Given the description of an element on the screen output the (x, y) to click on. 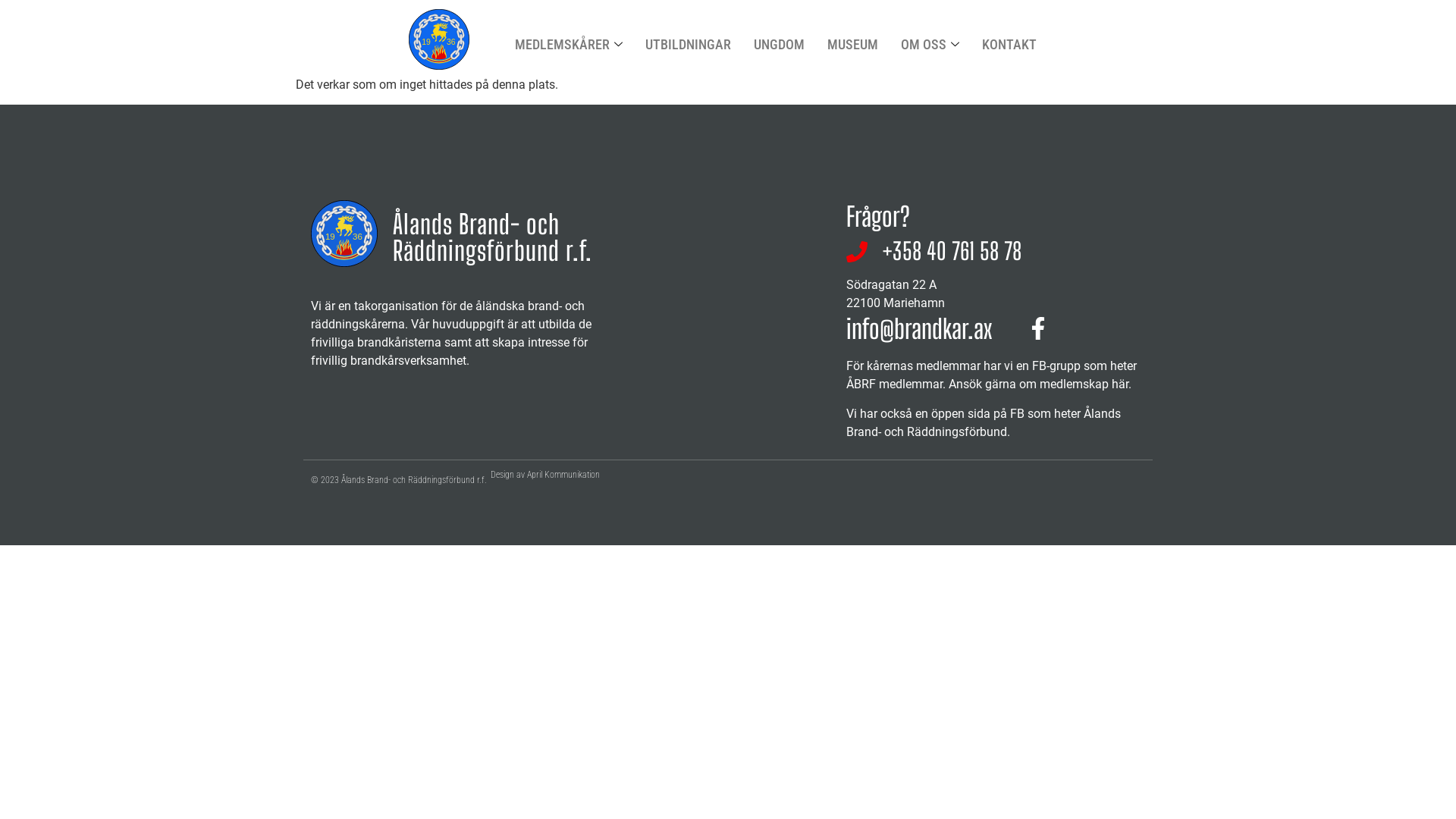
April Kommunikation Element type: text (563, 474)
UNGDOM Element type: text (778, 43)
KONTAKT Element type: text (1009, 43)
UTBILDNINGAR Element type: text (687, 43)
+358 40 761 58 78 Element type: text (933, 251)
info@brandkar.ax Element type: text (918, 328)
OM OSS Element type: text (928, 43)
MUSEUM Element type: text (852, 43)
